Given the description of an element on the screen output the (x, y) to click on. 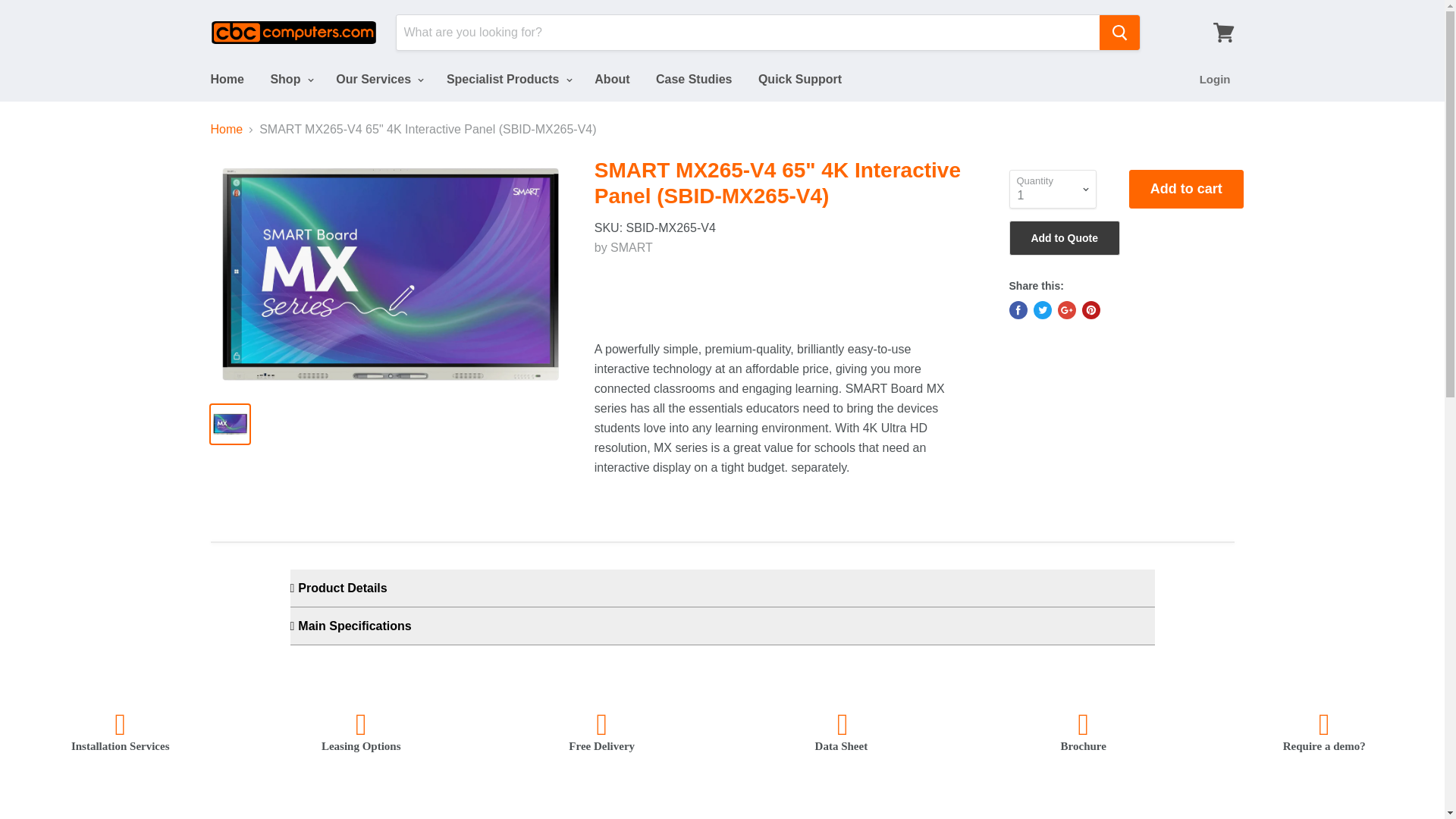
Our Services (377, 79)
Specialist Products (507, 79)
View cart (1223, 32)
About (611, 79)
Shop (289, 79)
Home (226, 79)
Case Studies (693, 79)
Quick Support (799, 79)
Login (1215, 79)
